Given the description of an element on the screen output the (x, y) to click on. 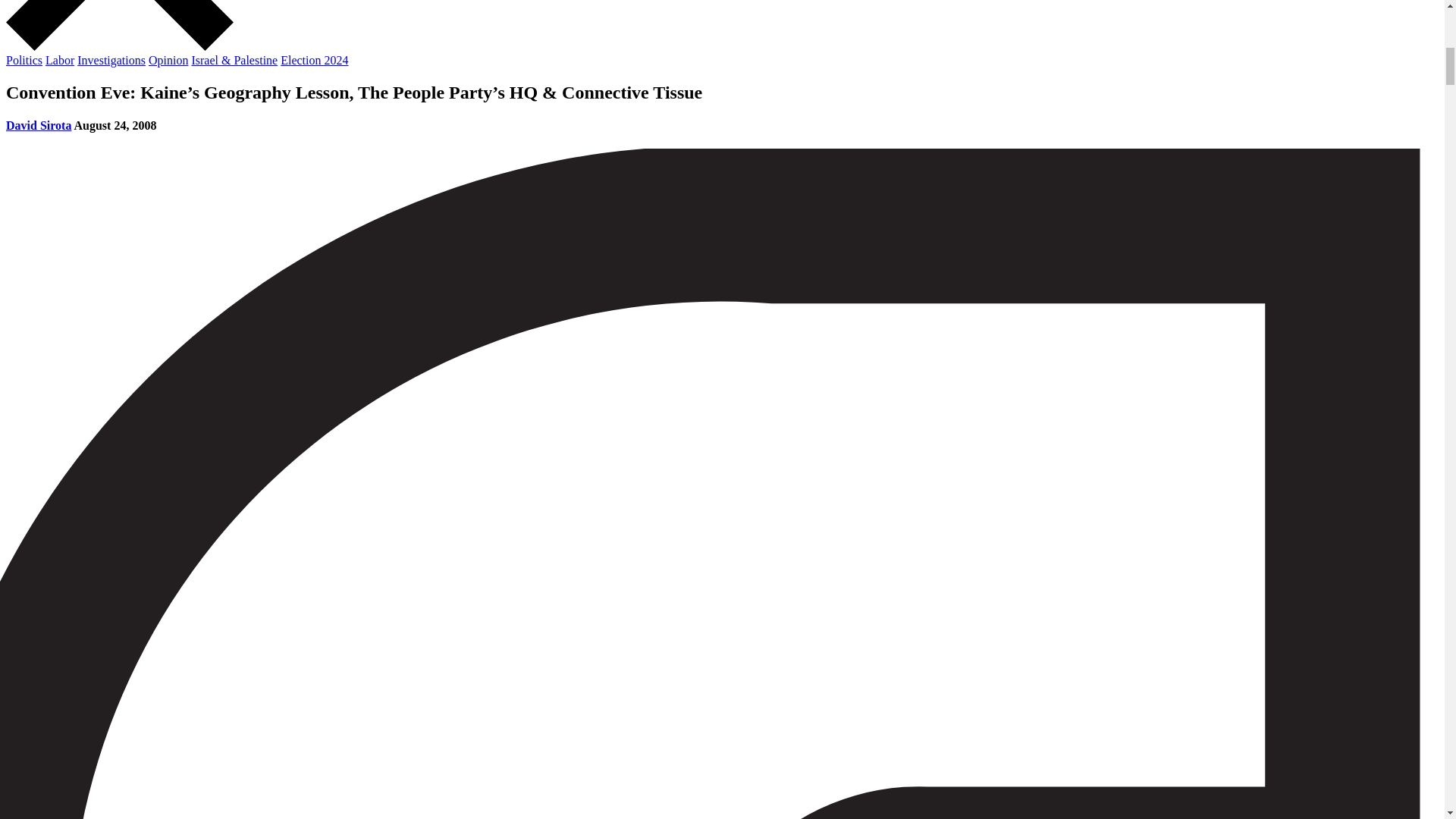
Opinion (167, 60)
Investigations (111, 60)
Labor (59, 60)
Politics (23, 60)
David Sirota (38, 124)
Election 2024 (314, 60)
close (118, 46)
close (118, 25)
